Given the description of an element on the screen output the (x, y) to click on. 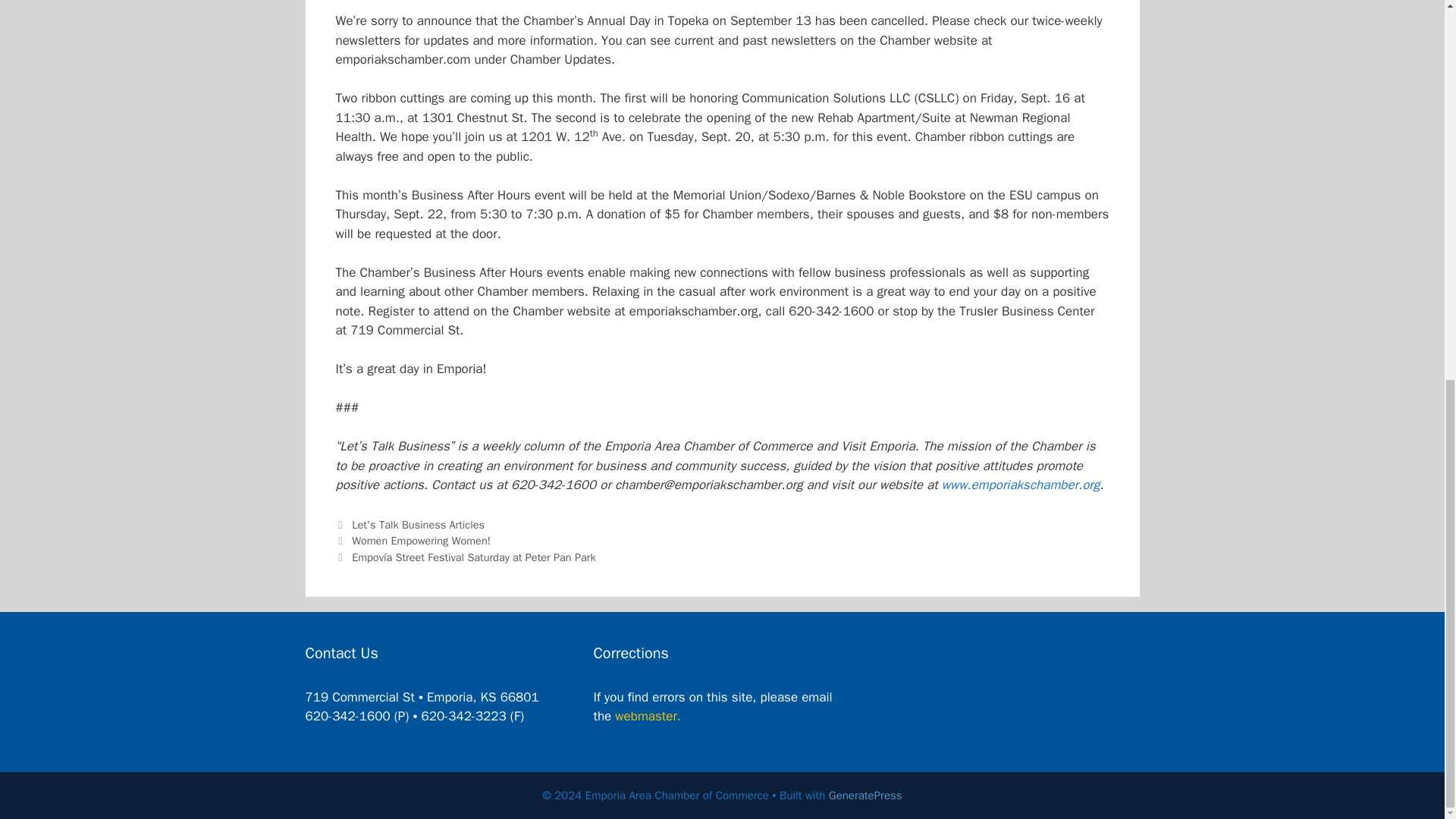
Next (464, 557)
Previous (412, 540)
